Given the description of an element on the screen output the (x, y) to click on. 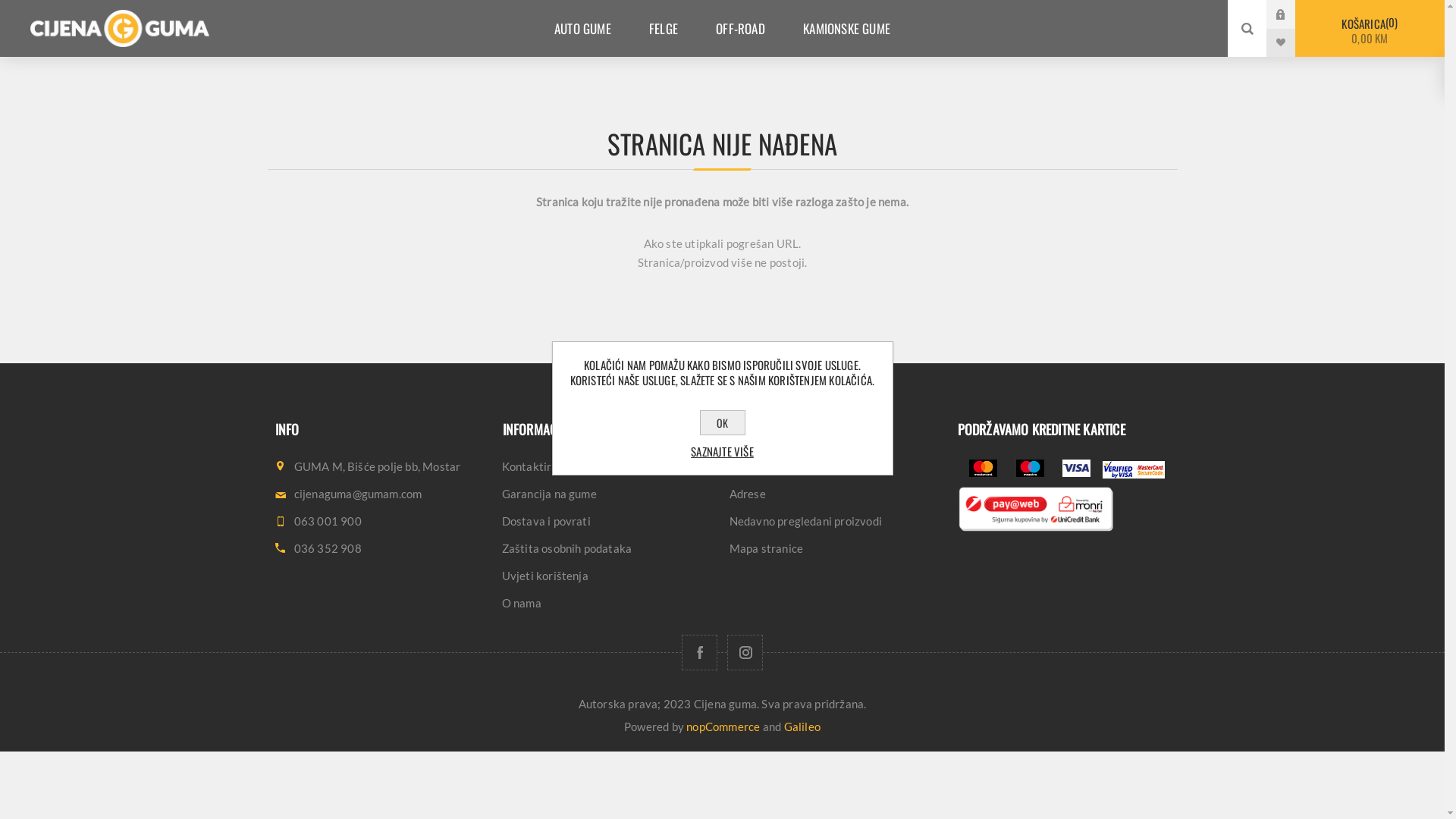
OFF-ROAD Element type: text (740, 27)
Adrese Element type: text (835, 493)
Kontaktirajte nas Element type: text (607, 466)
FELGE Element type: text (663, 27)
KAMIONSKE GUME Element type: text (846, 27)
O nama Element type: text (607, 602)
nopCommerce Element type: text (722, 726)
OK Element type: text (721, 422)
Garancija na gume Element type: text (607, 493)
Galileo Element type: text (802, 726)
AUTO GUME Element type: text (582, 27)
Dostava i povrati Element type: text (607, 520)
Mapa stranice Element type: text (835, 547)
Nedavno pregledani proizvodi Element type: text (835, 520)
